Given the description of an element on the screen output the (x, y) to click on. 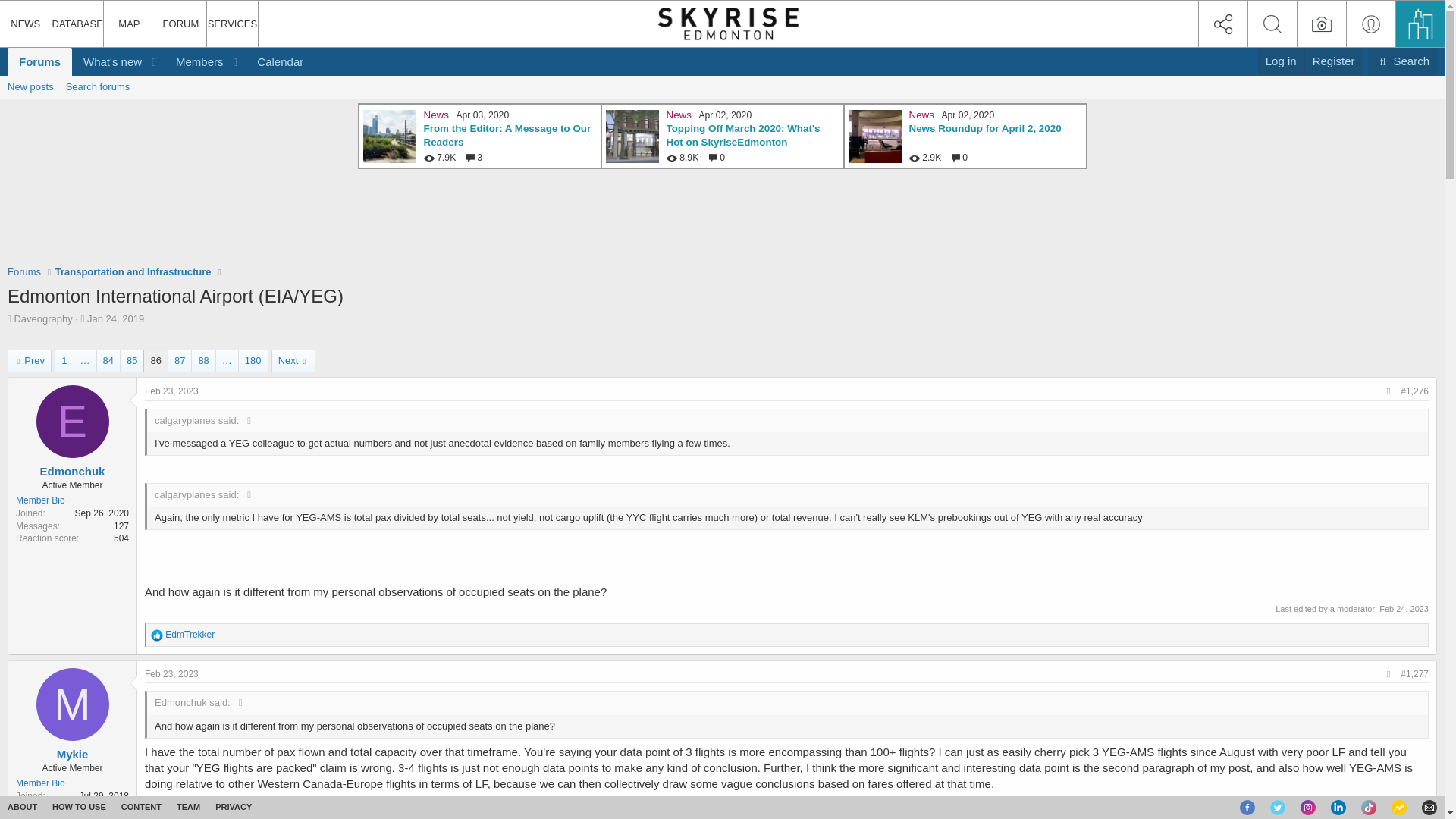
Members (194, 61)
Forums (39, 61)
What's new (106, 61)
Topping Off March 2020: What's Hot on SkyriseEdmonton (721, 87)
Register (742, 135)
Search forums (1333, 60)
Forums (97, 87)
Search (23, 272)
Jan 24, 2019 at 11:36 AM (1402, 61)
Daveography (115, 318)
From the Editor: A Message to Our Readers (42, 318)
Log in (507, 135)
Transportation and Infrastructure (1280, 60)
Feb 23, 2023 at 3:41 PM (133, 272)
